Given the description of an element on the screen output the (x, y) to click on. 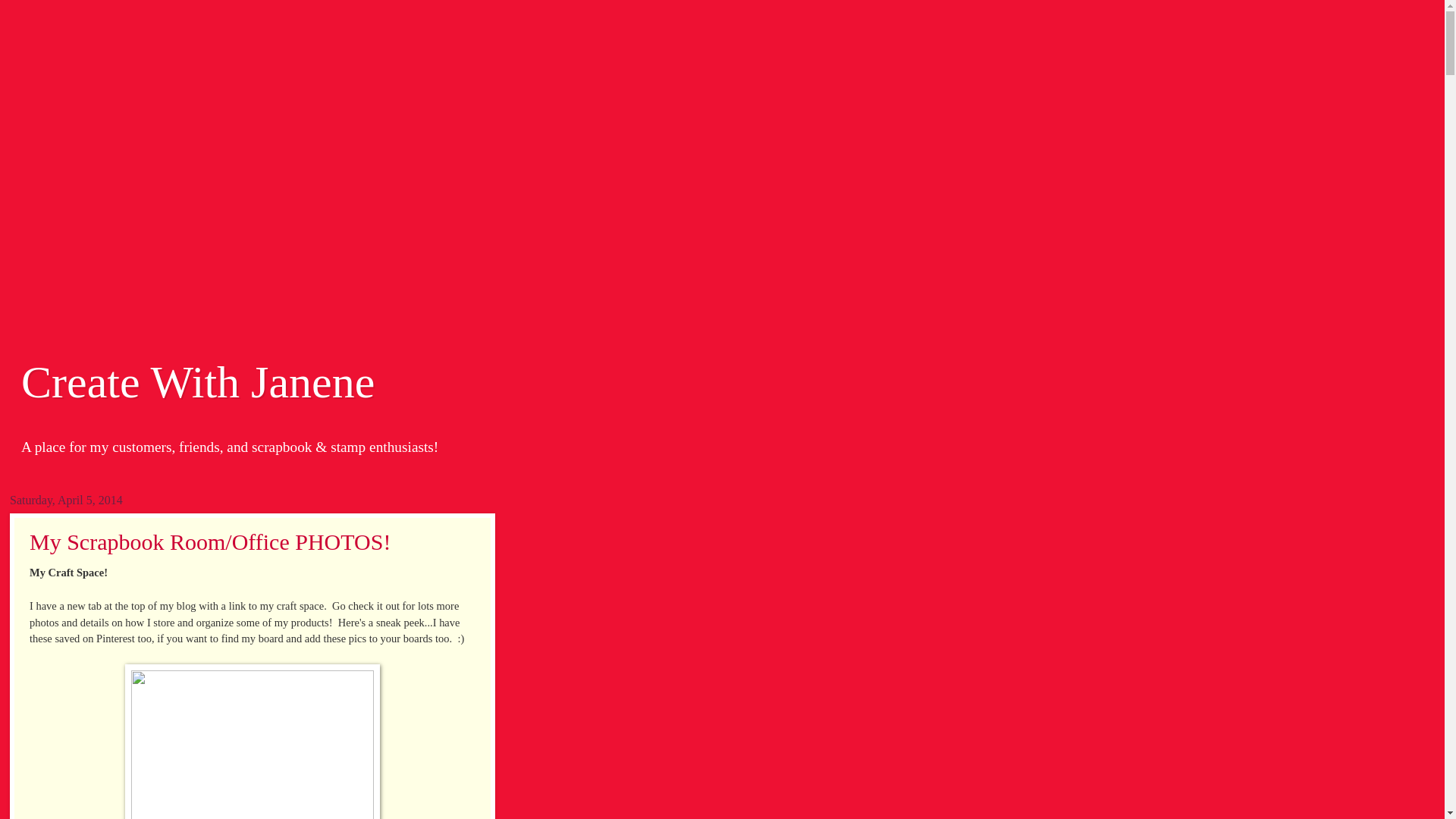
Create With Janene (197, 382)
